Given the description of an element on the screen output the (x, y) to click on. 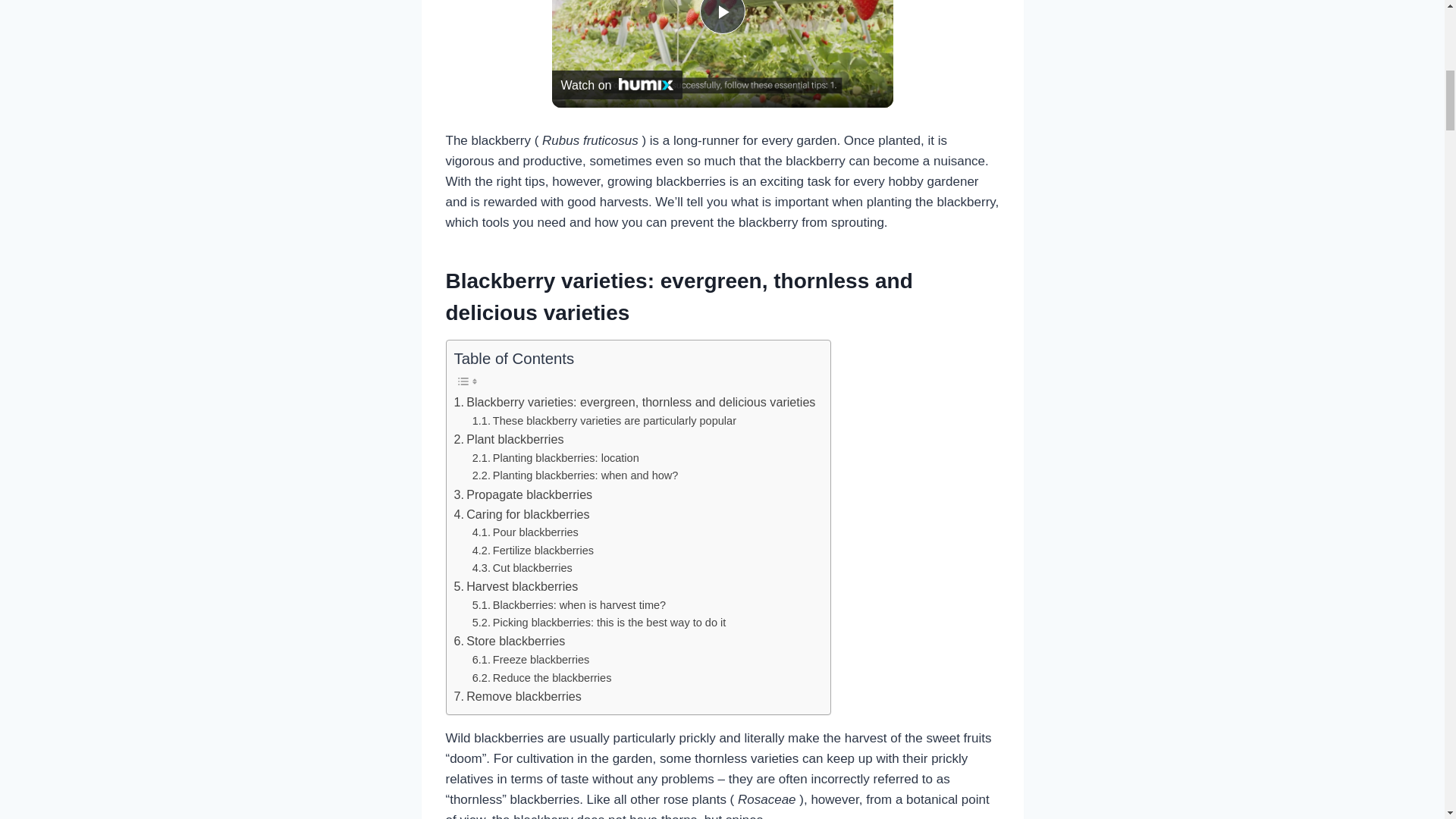
Play Video (721, 17)
Planting blackberries: location (555, 457)
These blackberry varieties are particularly popular (603, 420)
Fertilize blackberries (532, 550)
Plant blackberries (507, 439)
Cut blackberries (521, 568)
Propagate blackberries (522, 495)
Planting blackberries: location (555, 457)
Planting blackberries: when and how? (574, 475)
